Given the description of an element on the screen output the (x, y) to click on. 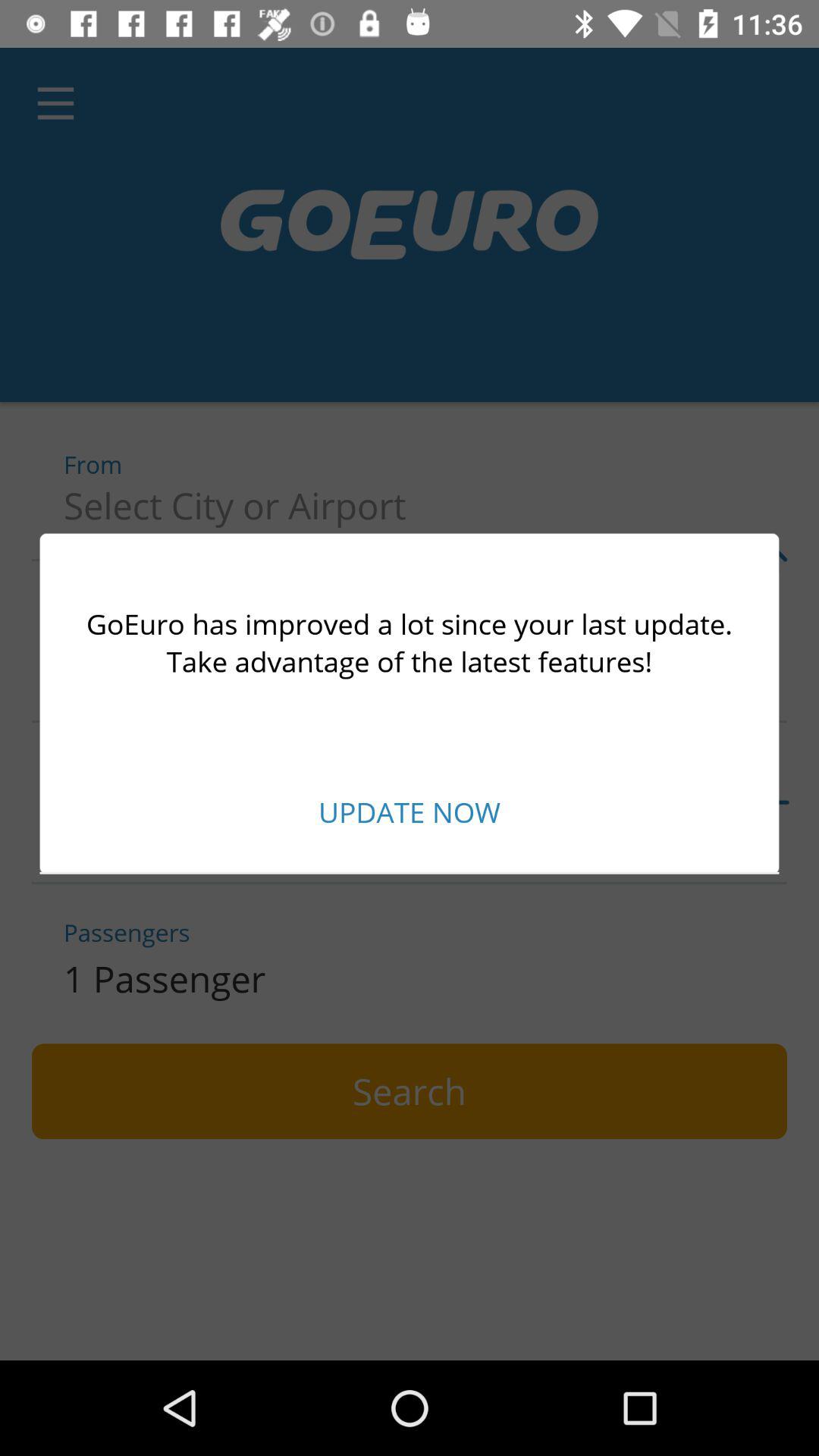
turn on the update now icon (409, 811)
